Given the description of an element on the screen output the (x, y) to click on. 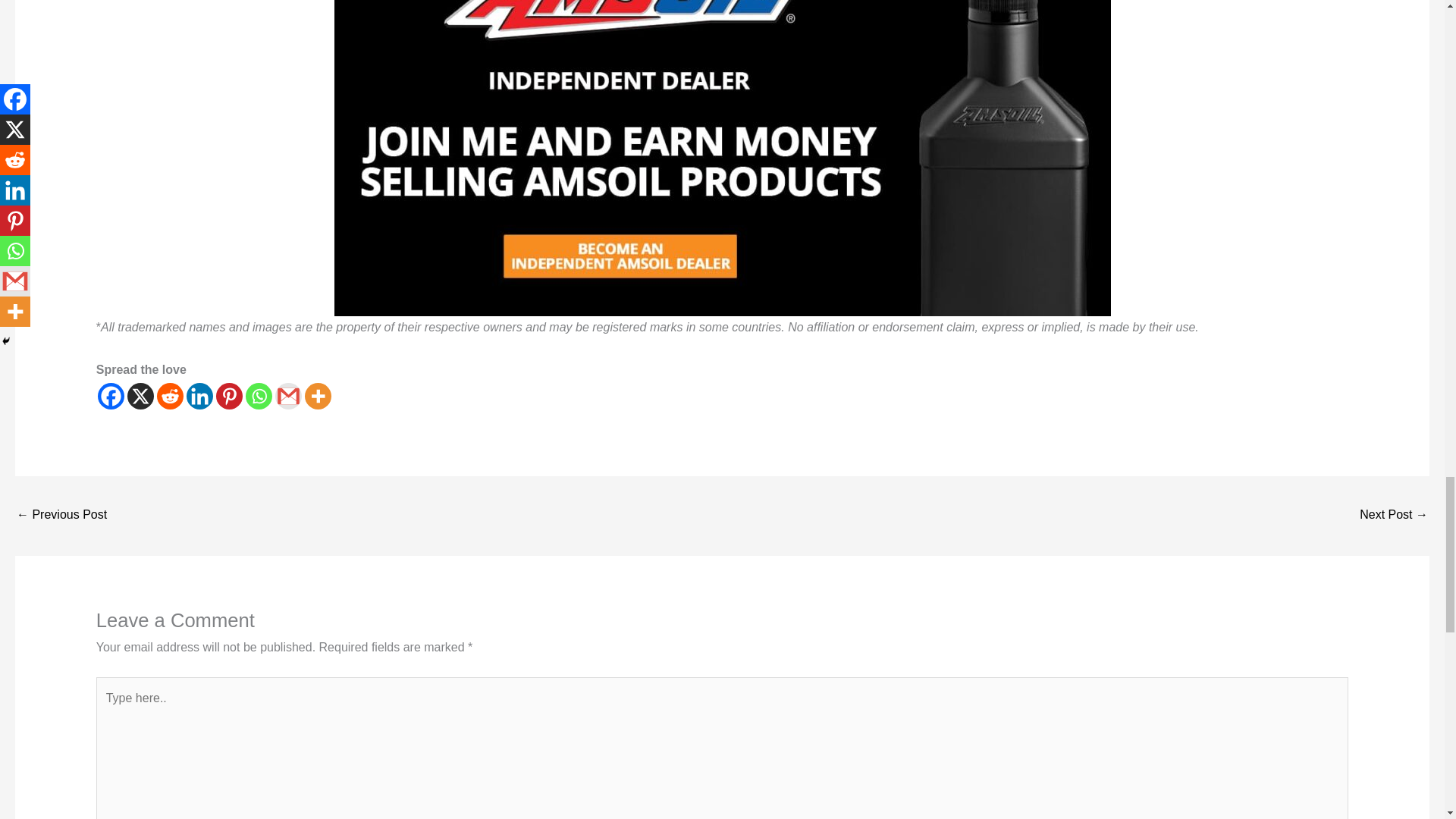
X (141, 396)
Reddit (170, 396)
Google Gmail (288, 396)
Linkedin (199, 396)
Pinterest (229, 396)
Facebook (110, 396)
More (317, 396)
Whatsapp (259, 396)
